Given the description of an element on the screen output the (x, y) to click on. 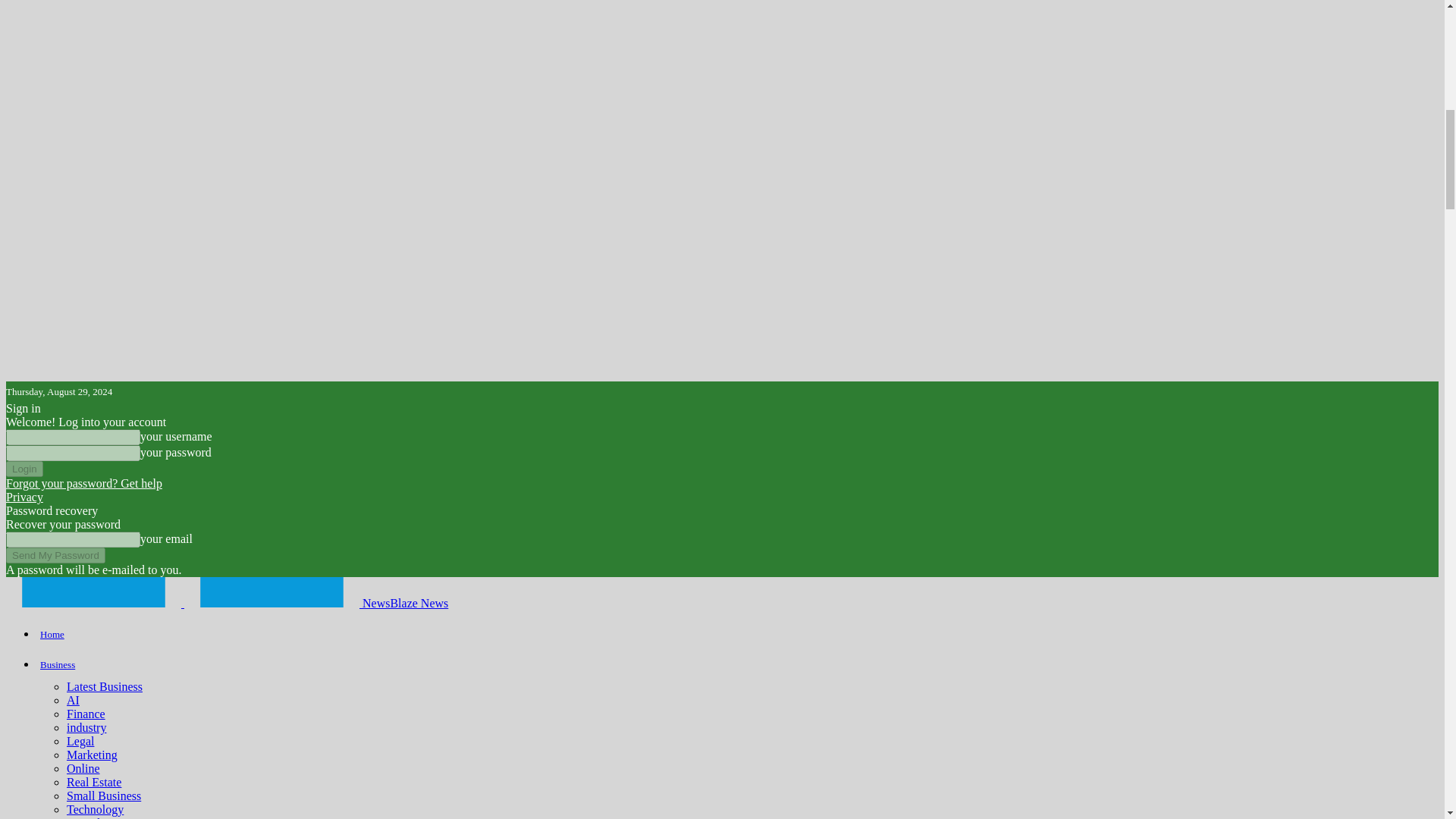
NewsBlaze News logo (92, 592)
Login (24, 468)
NewsBlaze News logo (271, 592)
Send My Password (54, 555)
